Given the description of an element on the screen output the (x, y) to click on. 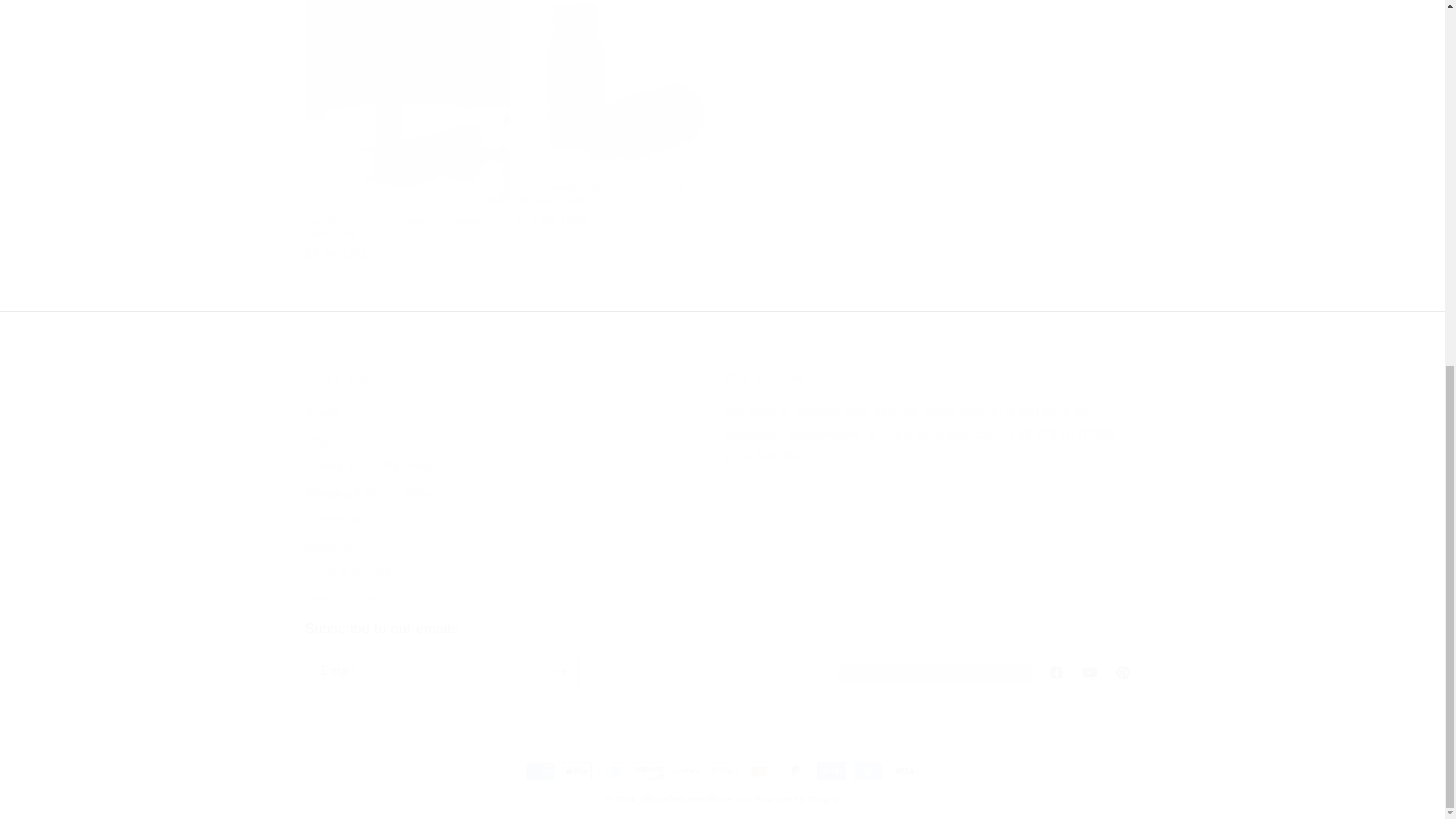
tel:3234548837 (769, 455)
